Given the description of an element on the screen output the (x, y) to click on. 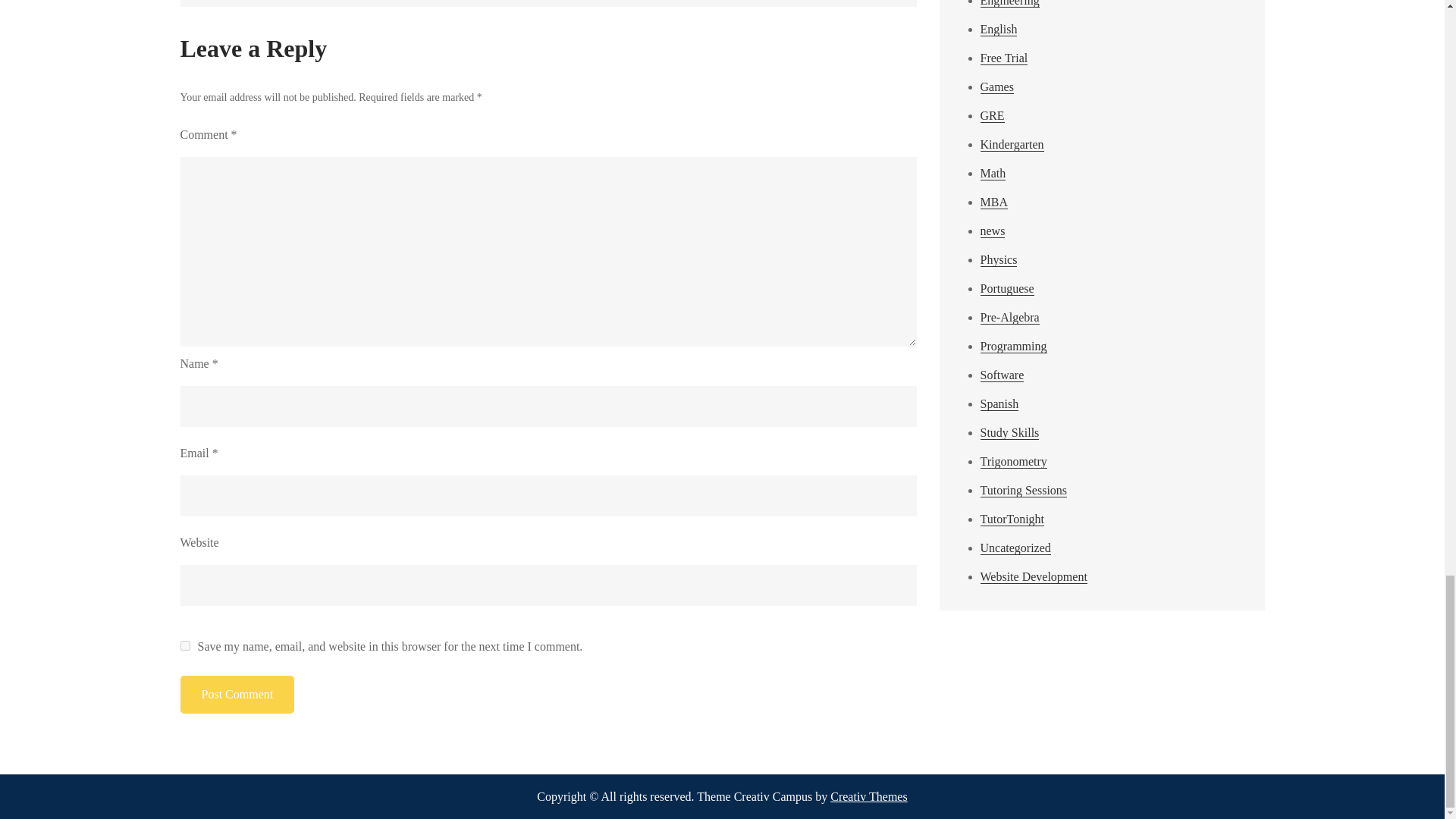
Post Comment (237, 694)
Post Comment (237, 694)
yes (185, 645)
